Given the description of an element on the screen output the (x, y) to click on. 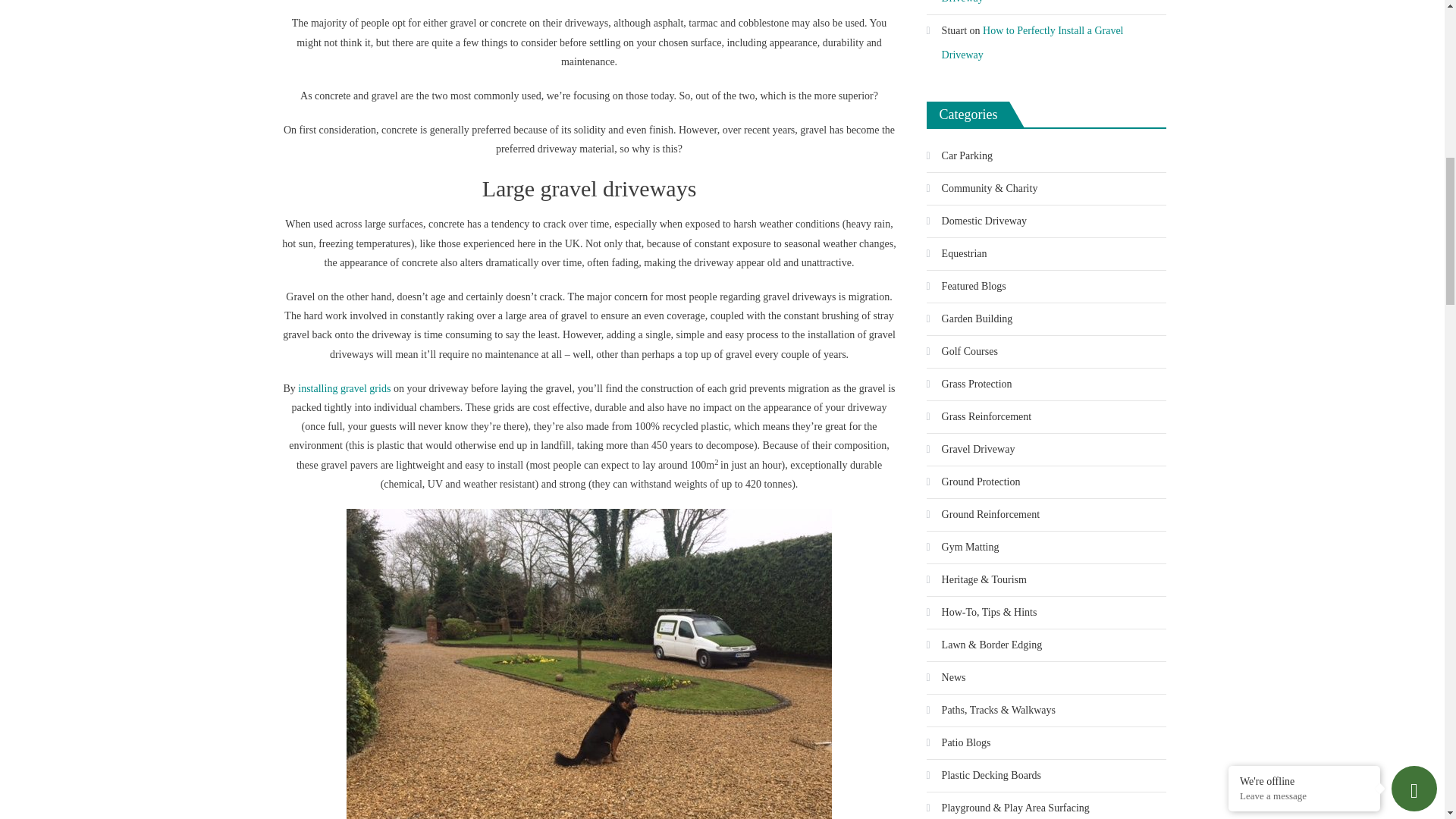
installing gravel grids (344, 388)
